Given the description of an element on the screen output the (x, y) to click on. 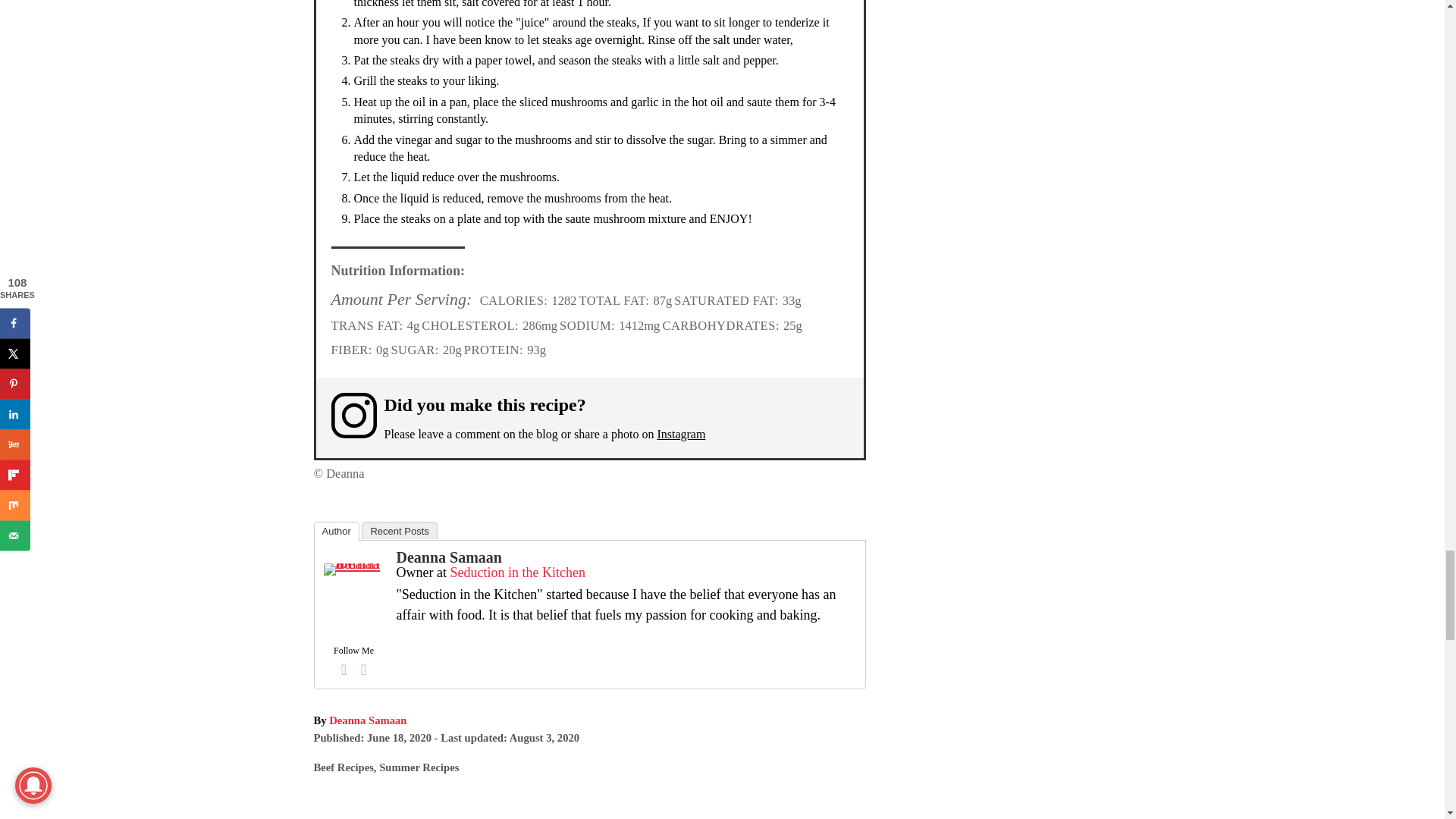
Recent Posts (398, 529)
Seduction in the Kitchen (517, 572)
Instagram (680, 433)
Author (336, 530)
Deanna Samaan (448, 556)
